Given the description of an element on the screen output the (x, y) to click on. 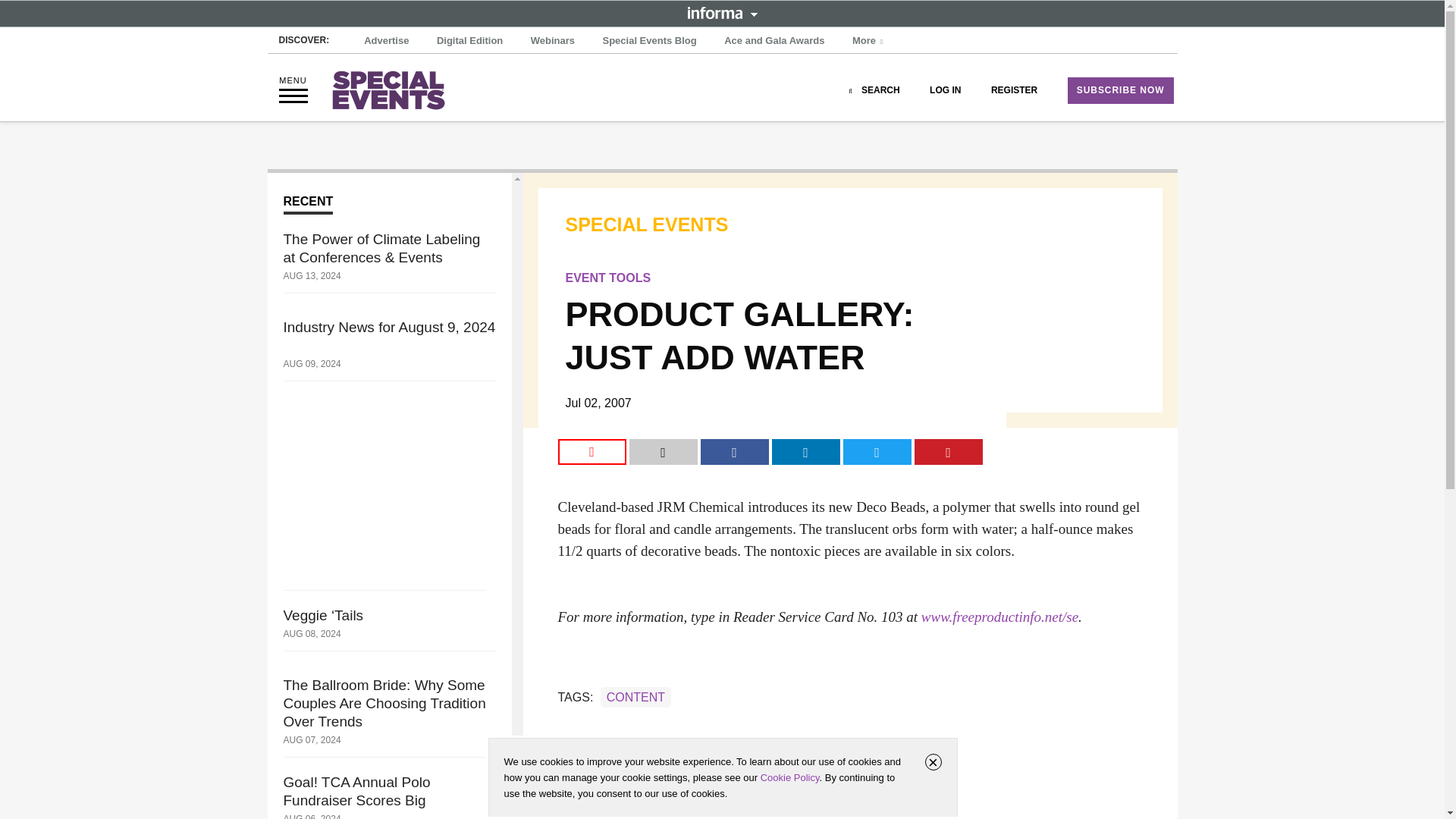
Cookie Policy (789, 777)
Webinars (552, 41)
More (869, 41)
INFORMA (722, 12)
Special Events Blog (648, 41)
Advertise (386, 41)
Ace and Gala Awards (773, 41)
Digital Edition (469, 41)
